Given the description of an element on the screen output the (x, y) to click on. 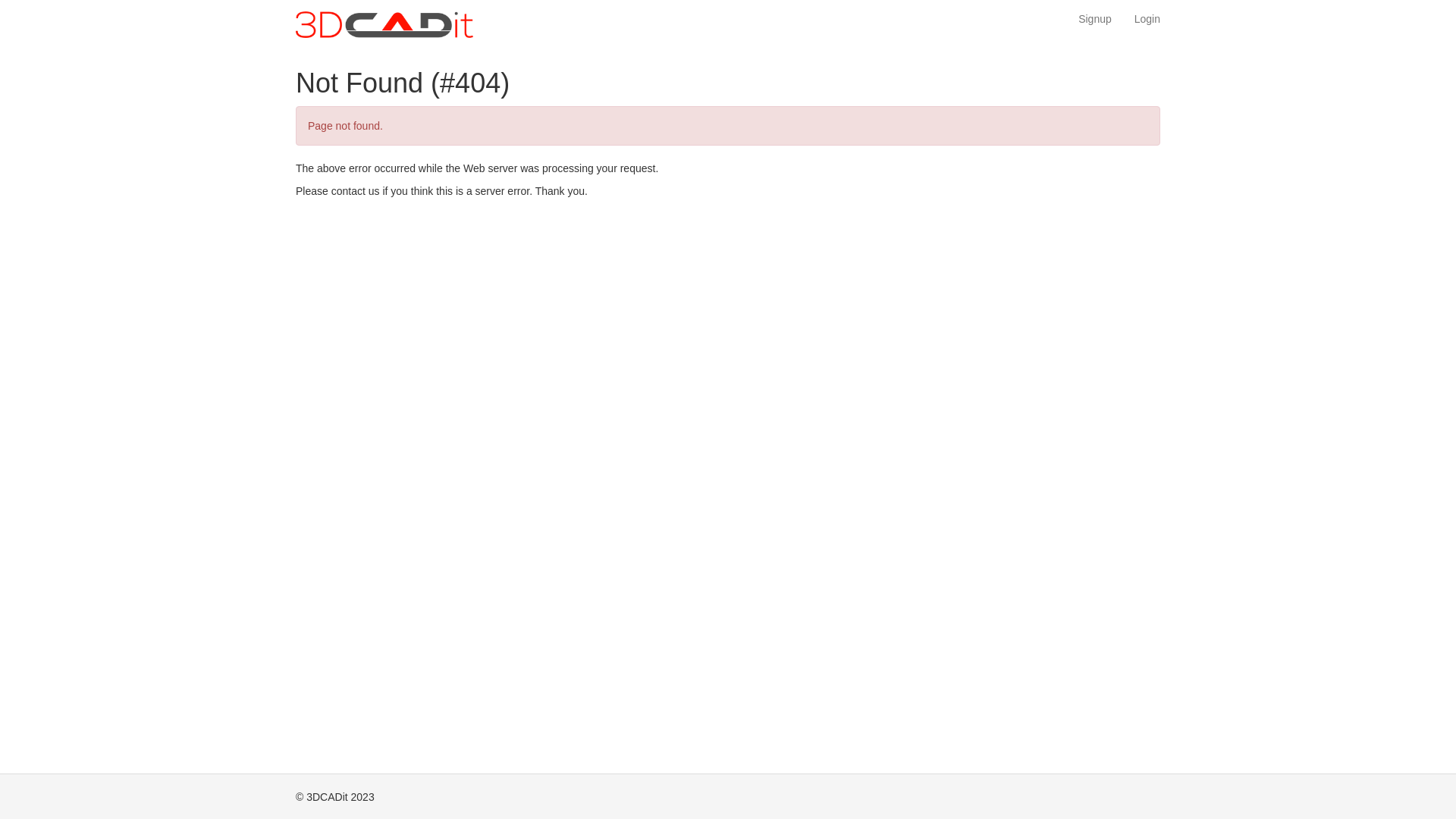
Signup Element type: text (1094, 18)
Login Element type: text (1147, 18)
